Given the description of an element on the screen output the (x, y) to click on. 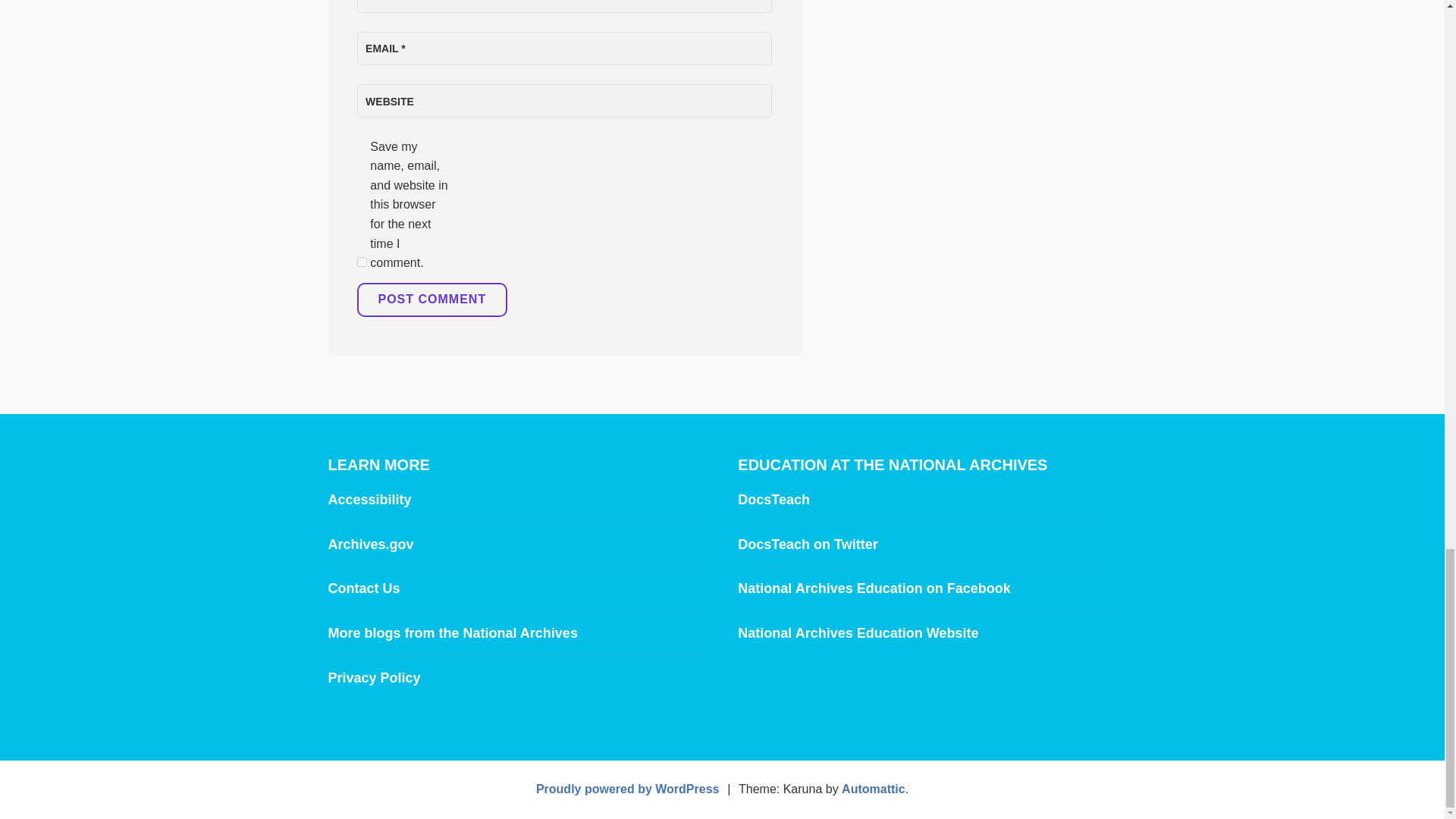
Post Comment (431, 299)
Accessibility information on archives.gov (368, 499)
Contact information (362, 588)
Post Comment (431, 299)
National Archives privacy policy (373, 677)
U.S. National Archives Blogroll (451, 632)
yes (361, 261)
